Given the description of an element on the screen output the (x, y) to click on. 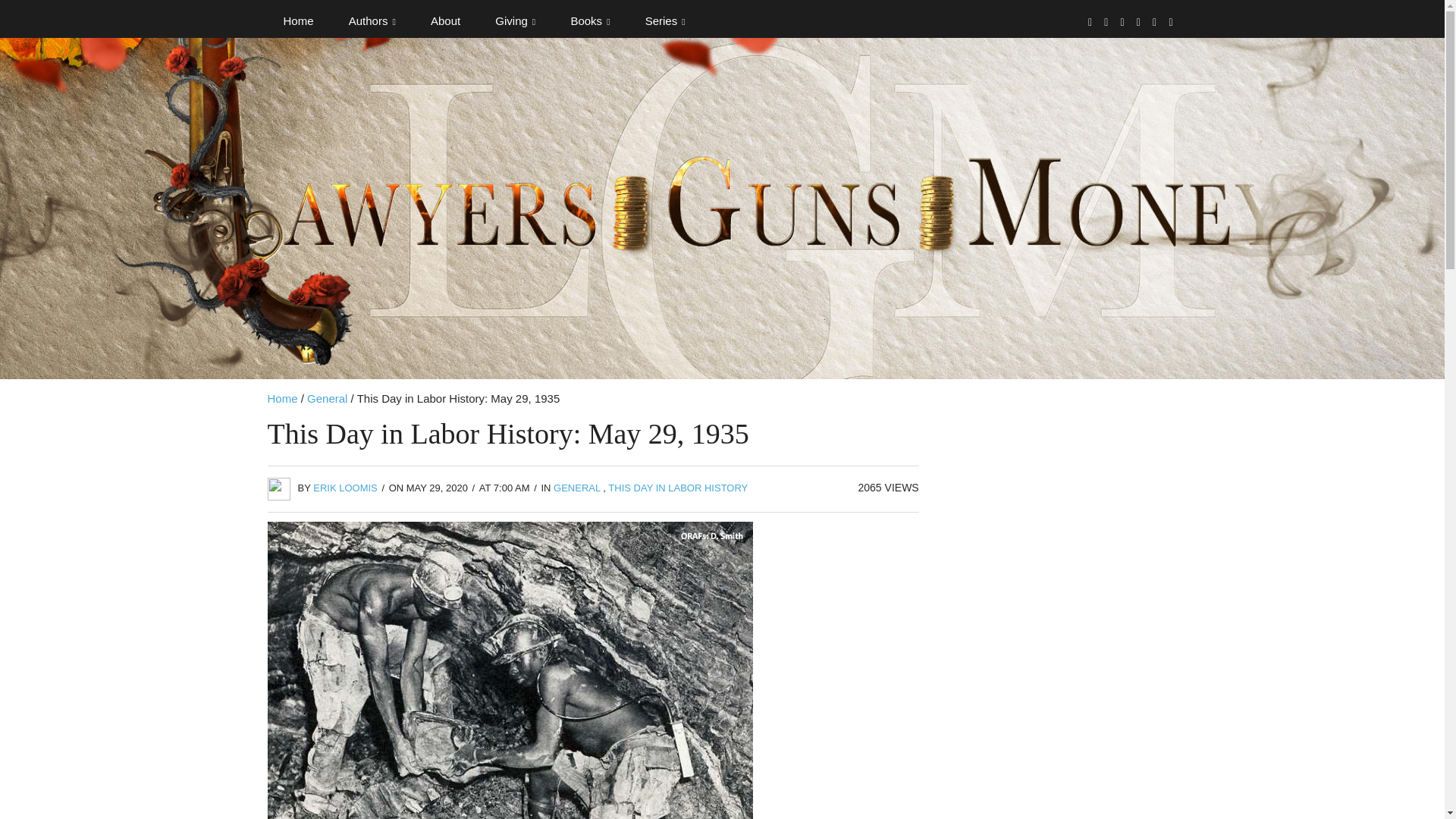
Giving (515, 21)
About (445, 21)
Posts by Erik Loomis (345, 487)
Books (590, 21)
Authors (372, 21)
Home (297, 21)
